Given the description of an element on the screen output the (x, y) to click on. 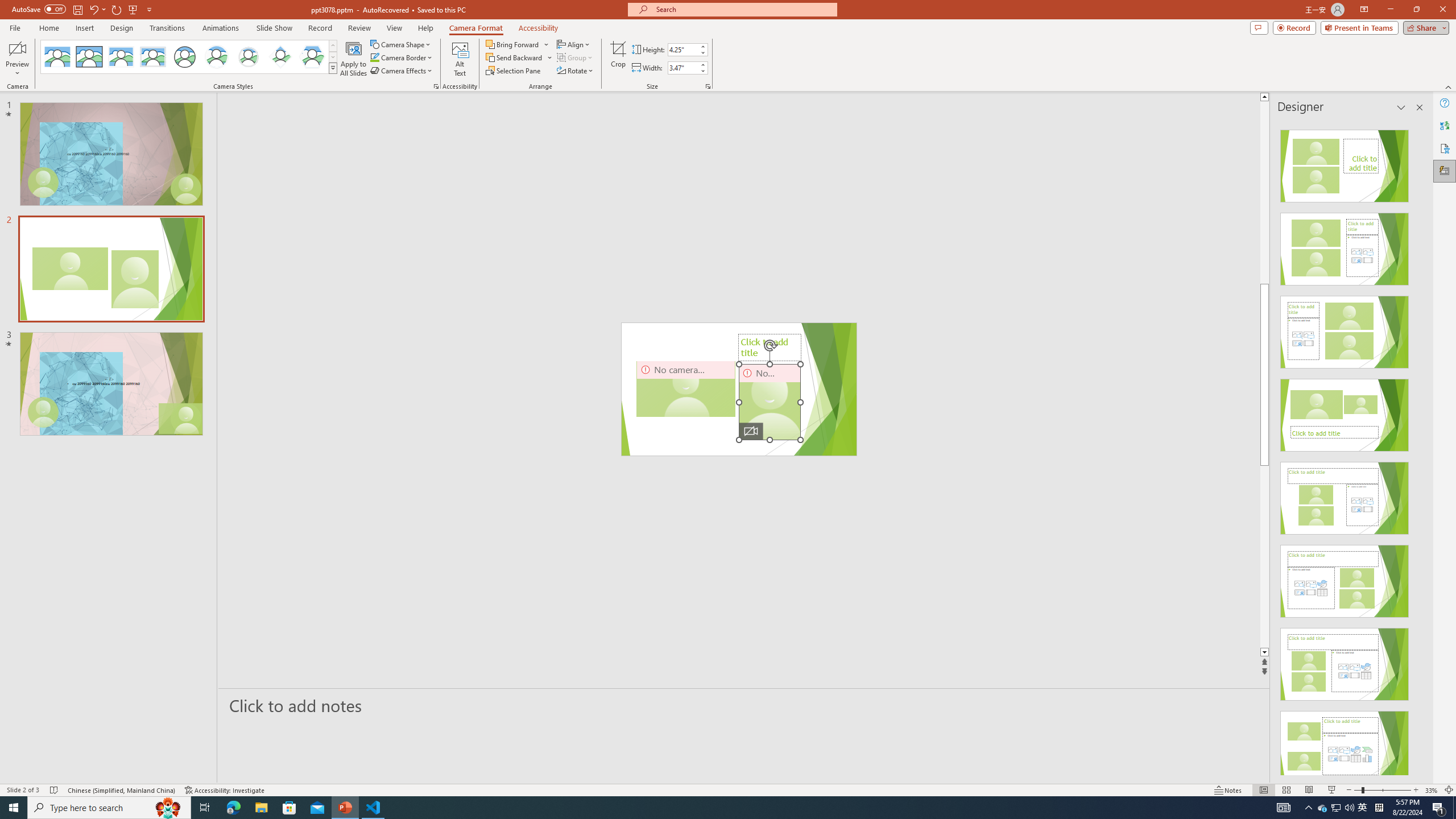
Center Shadow Rectangle (120, 56)
Class: NetUIScrollBar (1418, 447)
Group (575, 56)
Cameo Height (682, 49)
